Given the description of an element on the screen output the (x, y) to click on. 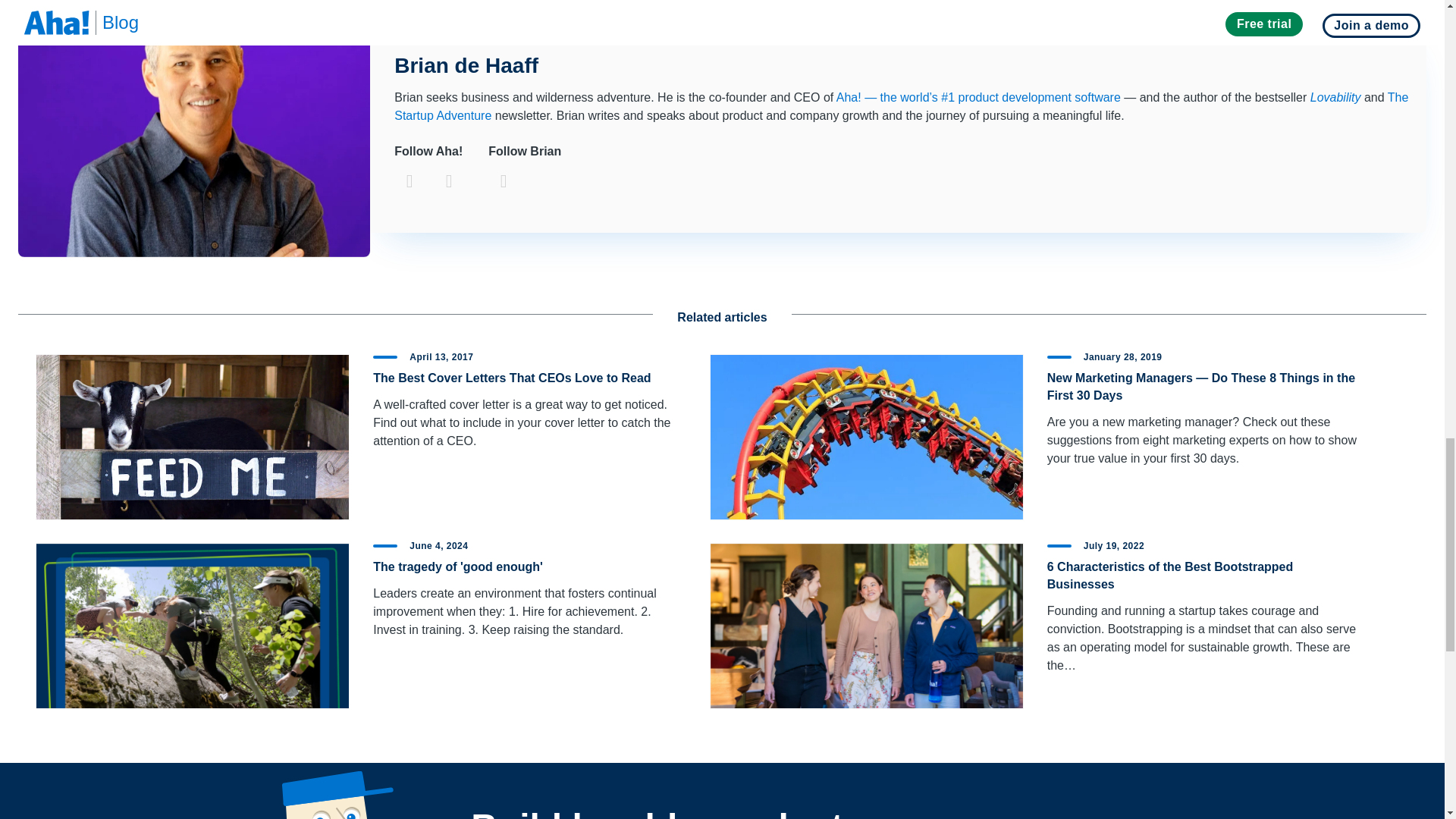
Lovability (1335, 97)
The Startup Adventure (900, 106)
The tragedy of 'good enough' (457, 566)
The Best Cover Letters That CEOs Love to Read (511, 377)
6 Characteristics of the Best Bootstrapped Businesses (1170, 575)
